Given the description of an element on the screen output the (x, y) to click on. 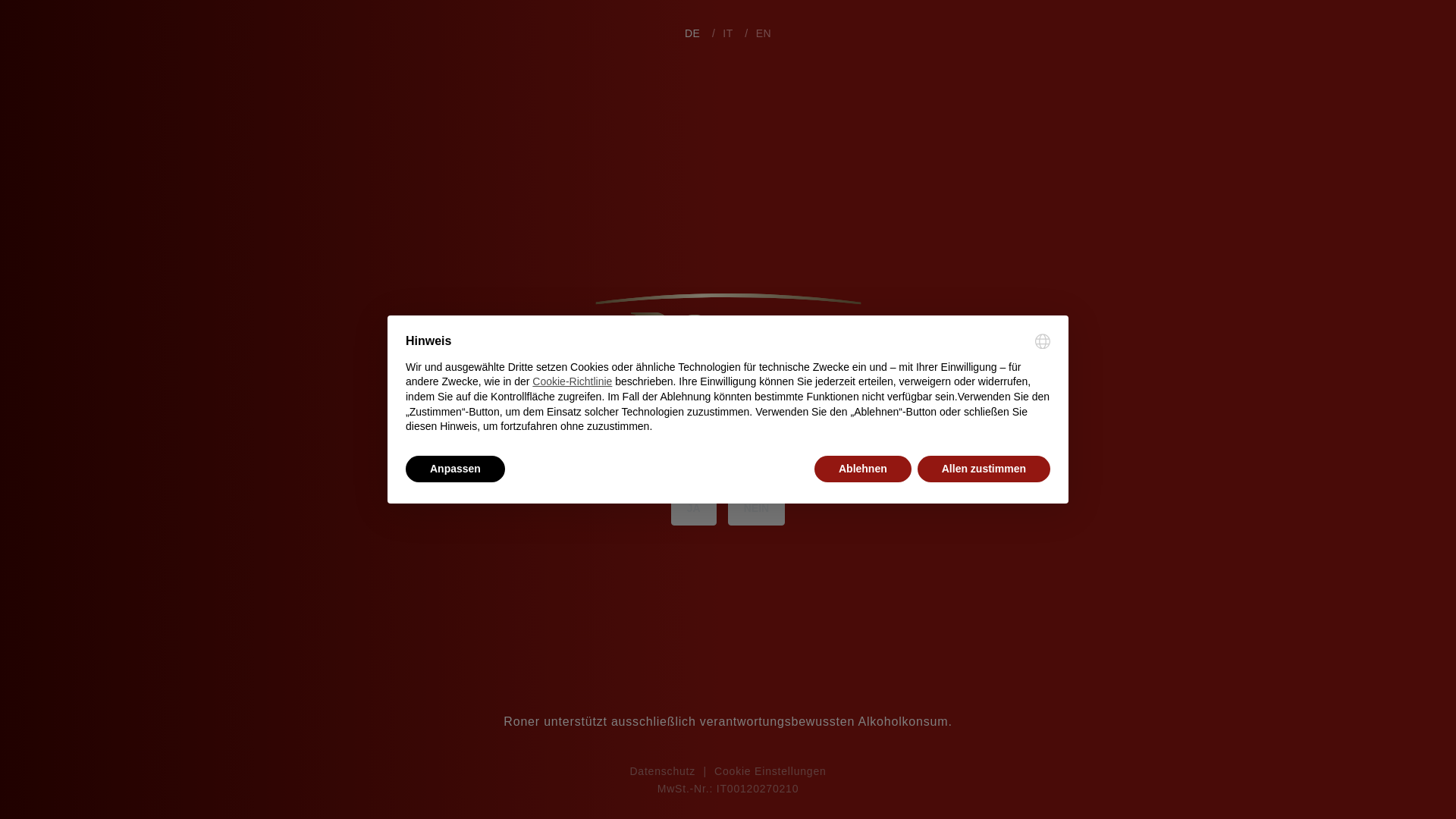
Rarus (41, 399)
Cookie Einstellungen (770, 770)
Roner AG Brennereien (727, 360)
NEIN (756, 508)
Roner AG Brennereien (726, 44)
JA (693, 508)
DE (692, 33)
Collis (41, 423)
Datenschutz (661, 770)
EN (763, 33)
